Given the description of an element on the screen output the (x, y) to click on. 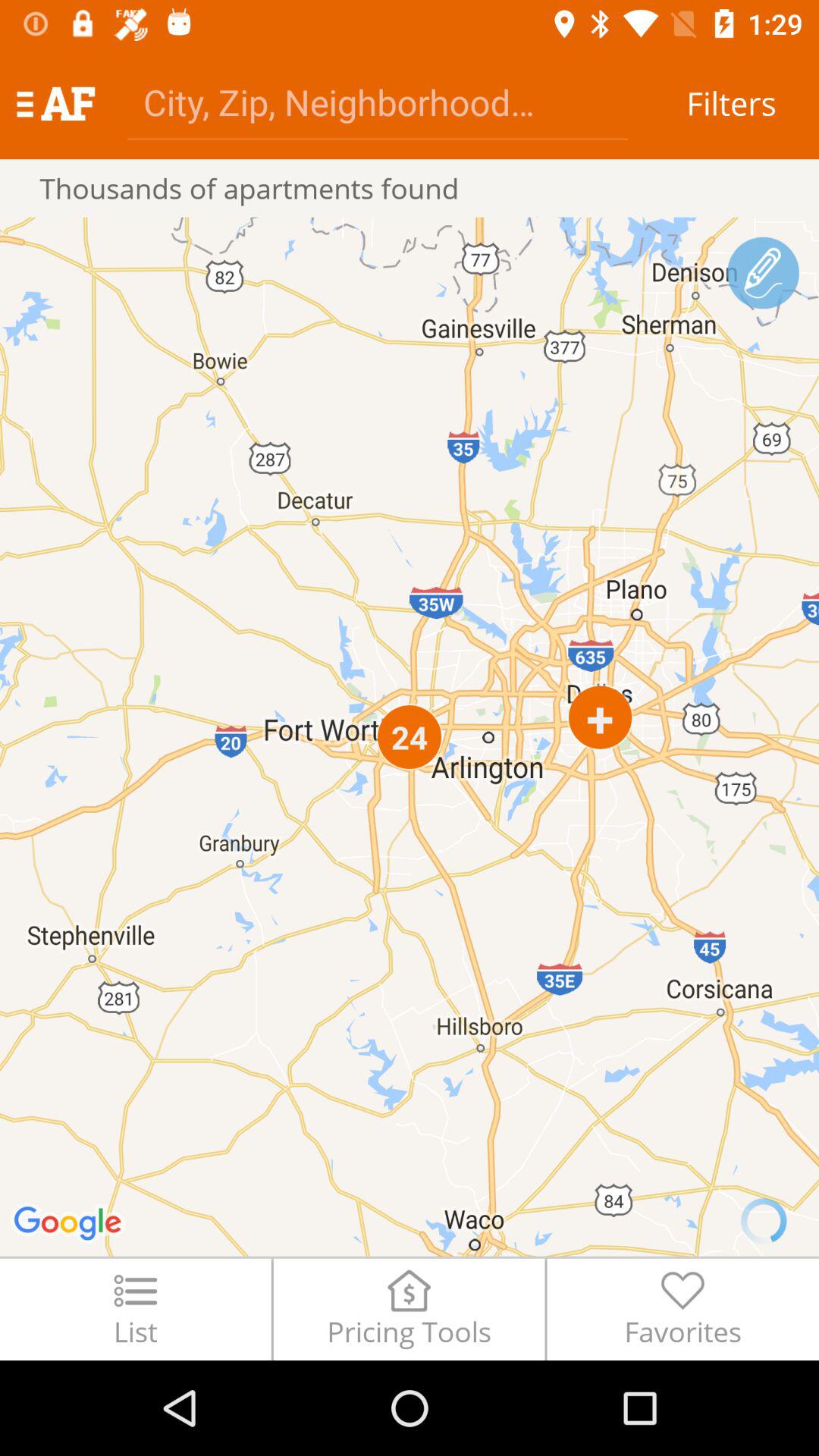
open the item next to the pricing tools (135, 1309)
